Given the description of an element on the screen output the (x, y) to click on. 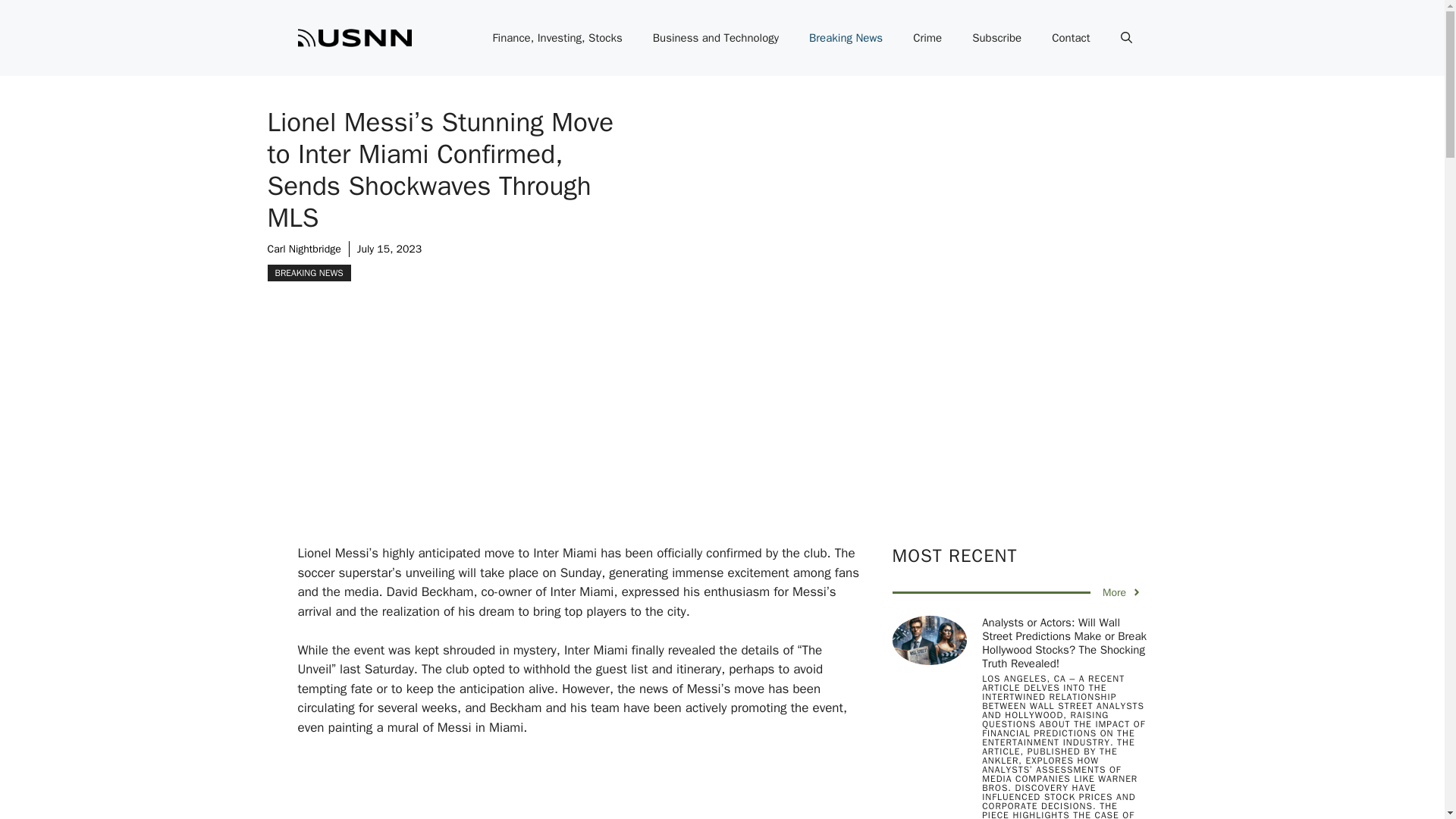
BREAKING NEWS (308, 272)
Subscribe (996, 37)
Crime (927, 37)
More (1121, 592)
Contact (1070, 37)
Finance, Investing, Stocks (557, 37)
Breaking News (845, 37)
Business and Technology (715, 37)
